Given the description of an element on the screen output the (x, y) to click on. 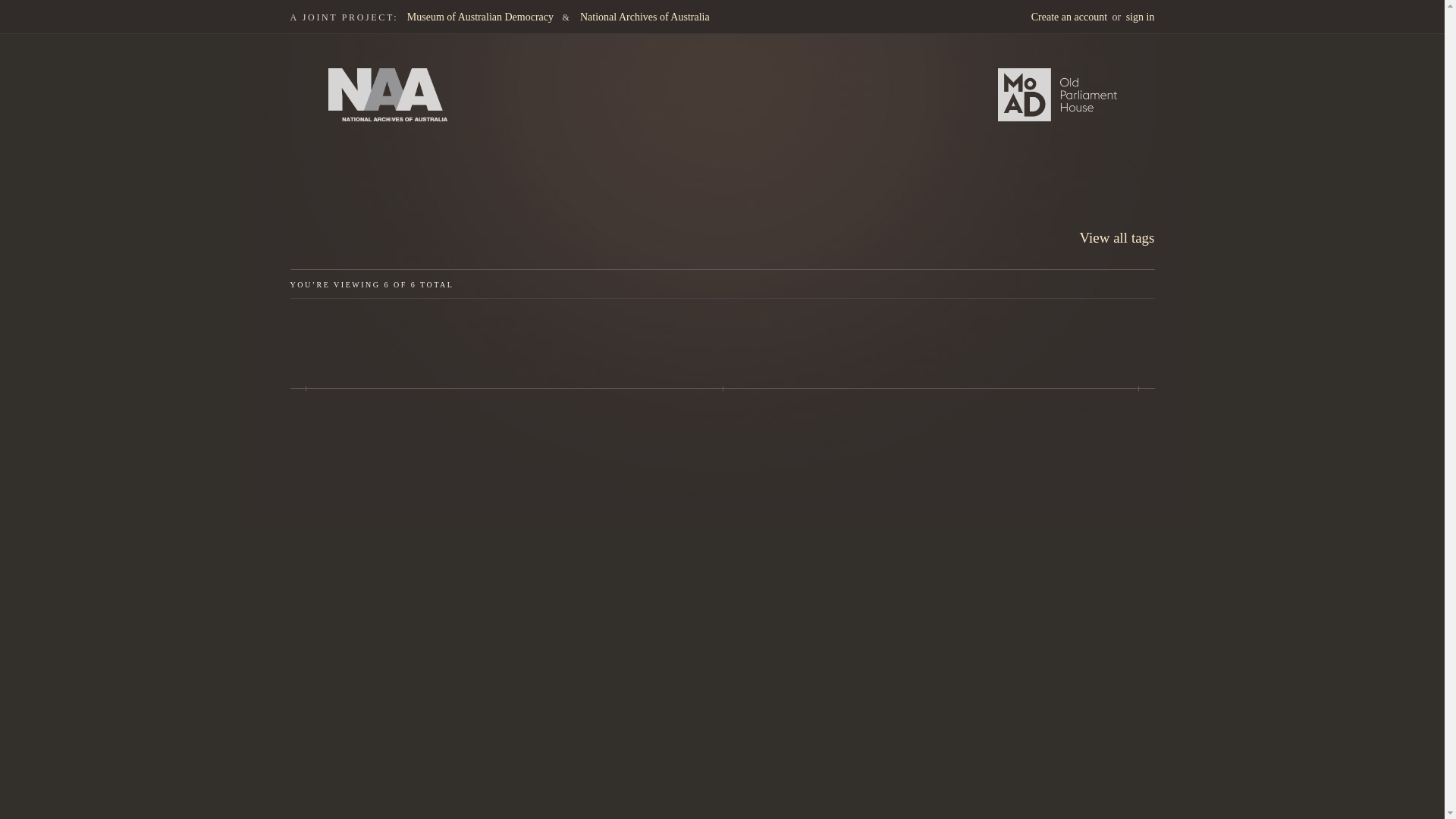
View all tags (1116, 236)
sign in (1139, 16)
National Archives of Australia (386, 94)
Museum of Australian Democracy (480, 16)
Museum of Australian Democracy at Old Parliament House (1056, 94)
Create an account (1068, 16)
National Archives of Australia (644, 16)
